Given the description of an element on the screen output the (x, y) to click on. 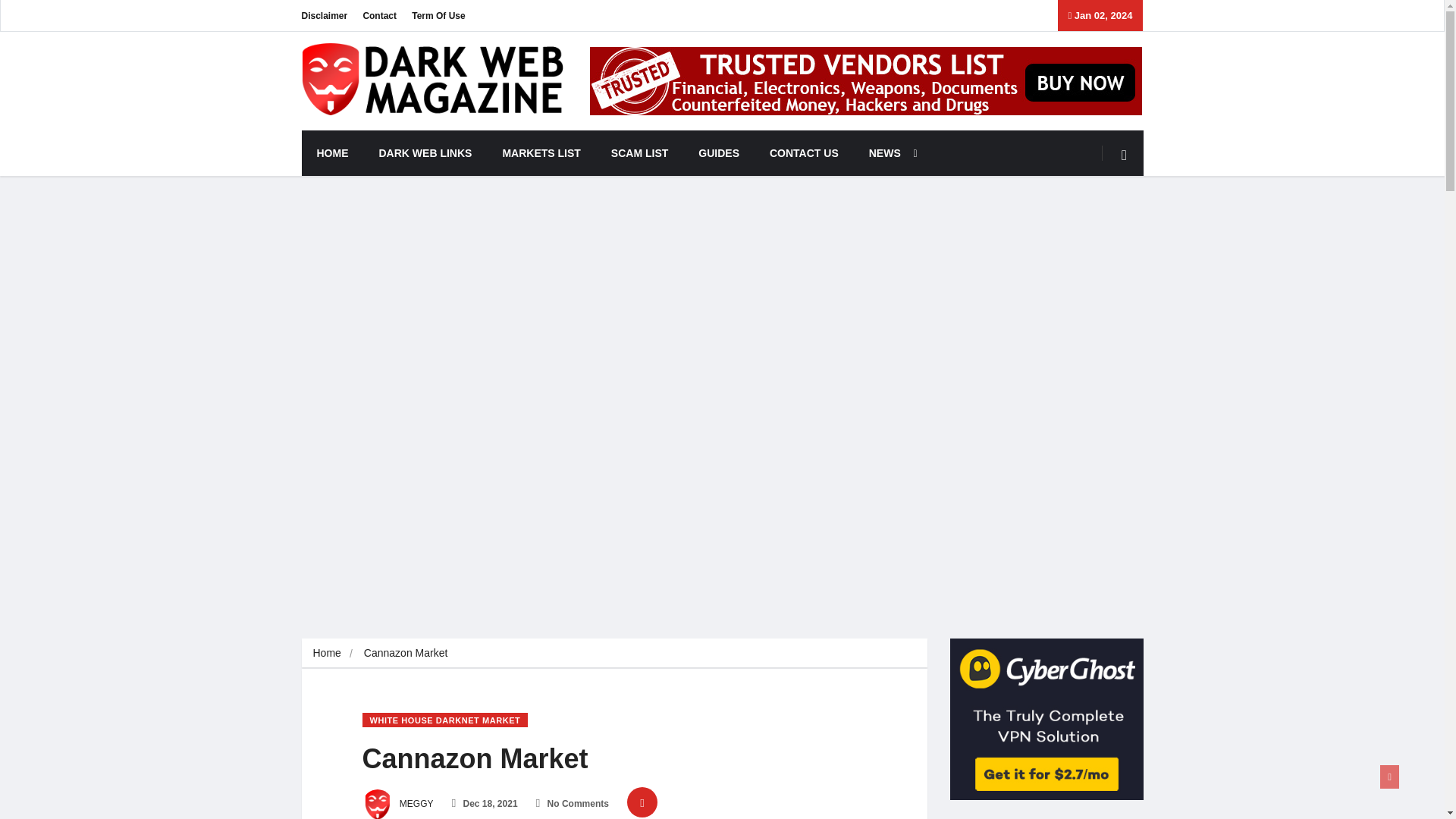
WHITE HOUSE DARKNET MARKET (445, 719)
MARKETS LIST (540, 153)
DARK WEB LINKS (425, 153)
CONTACT US (803, 153)
SCAM LIST (638, 153)
GUIDES (718, 153)
HOME (332, 153)
MEGGY (397, 803)
Contact (379, 15)
Disclaimer (324, 15)
NEWS (888, 153)
Term Of Use (438, 15)
Home (326, 653)
